Given the description of an element on the screen output the (x, y) to click on. 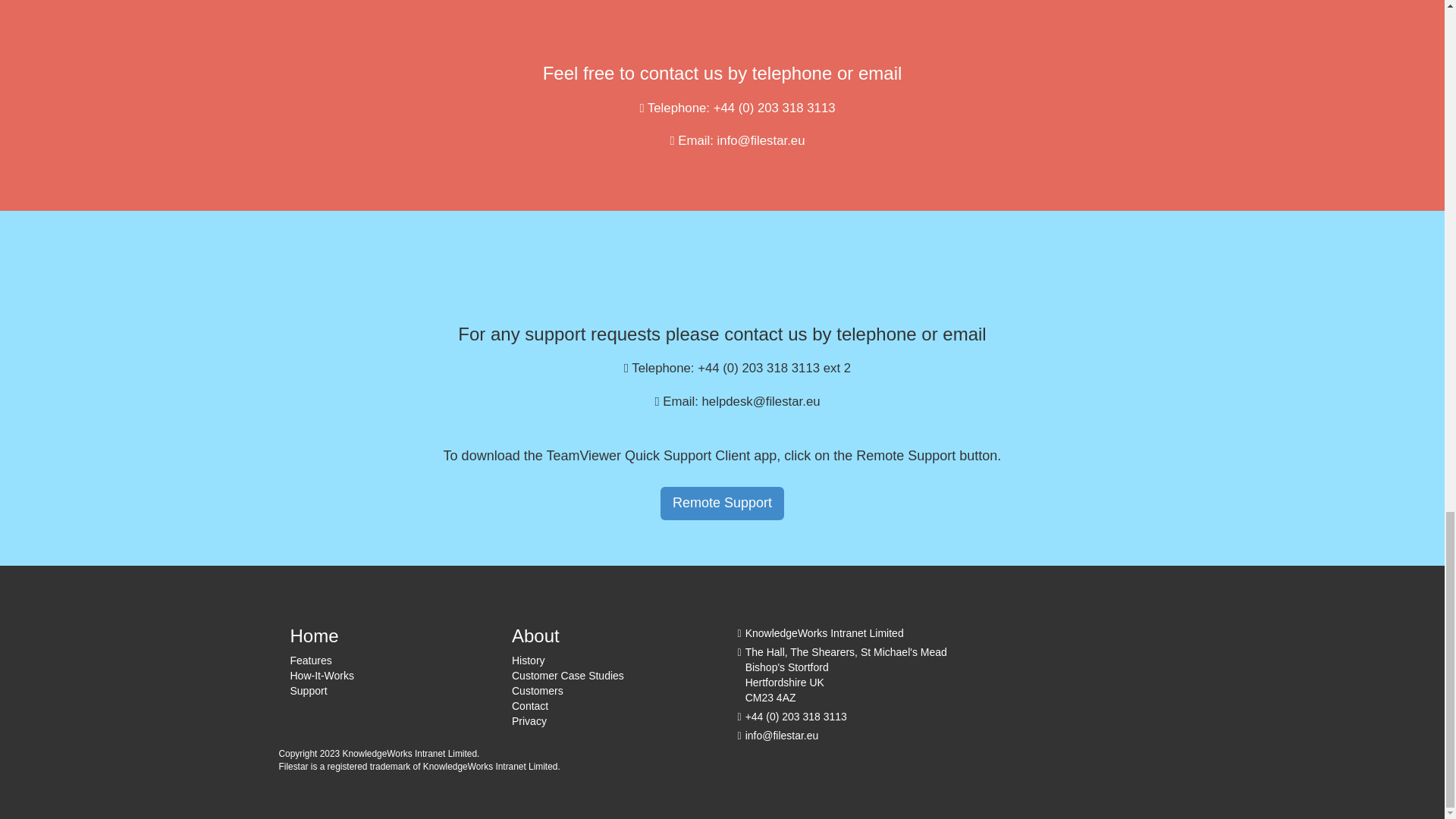
Features (310, 660)
Customer Case Studies (568, 675)
Contact (530, 705)
Remote Support (722, 503)
History (528, 660)
Home (313, 635)
Privacy (529, 720)
How-It-Works (321, 675)
Support (307, 690)
Customers (537, 690)
